Given the description of an element on the screen output the (x, y) to click on. 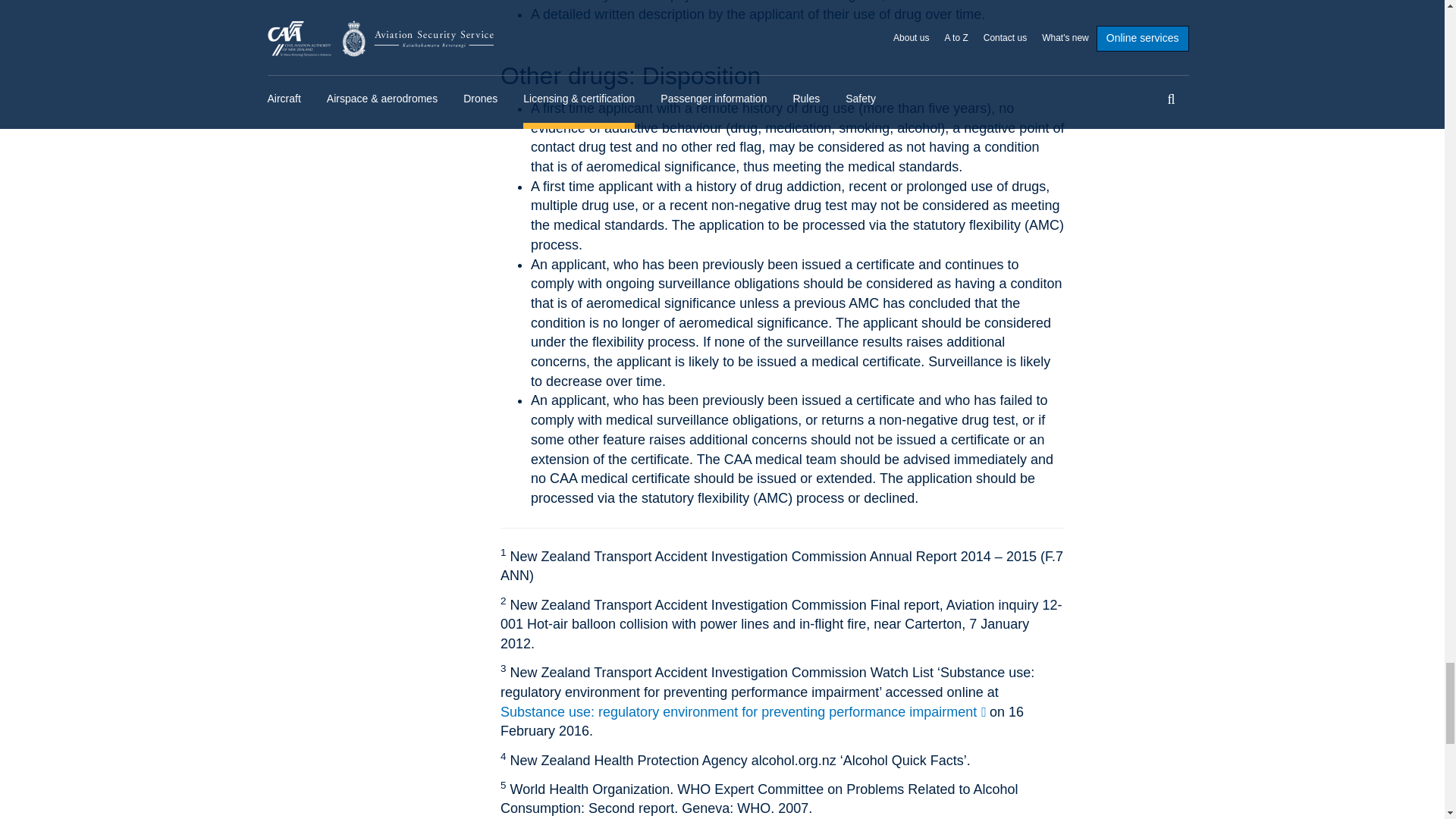
Open external link (742, 712)
